Given the description of an element on the screen output the (x, y) to click on. 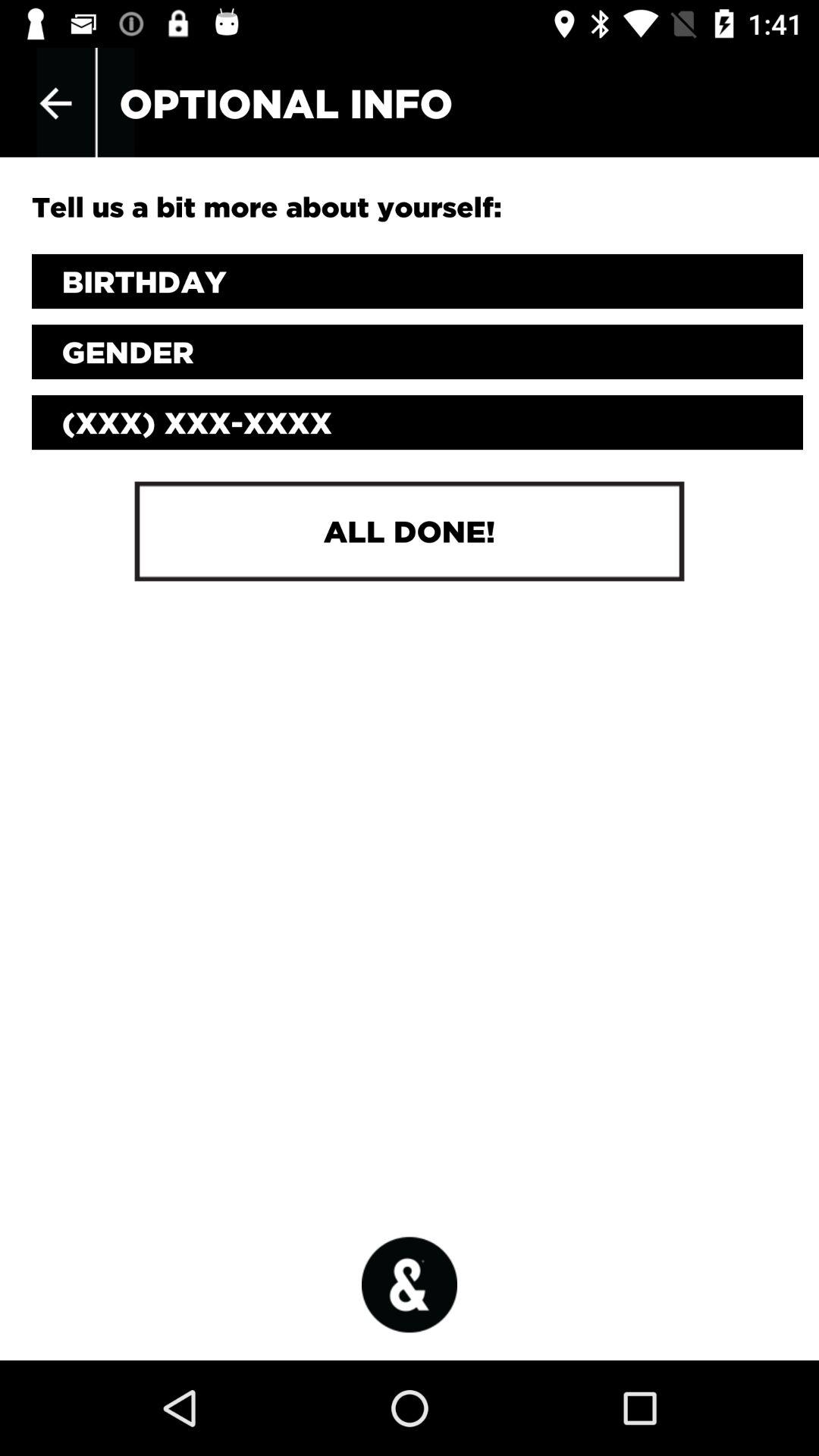
tap the all done! (409, 531)
